Given the description of an element on the screen output the (x, y) to click on. 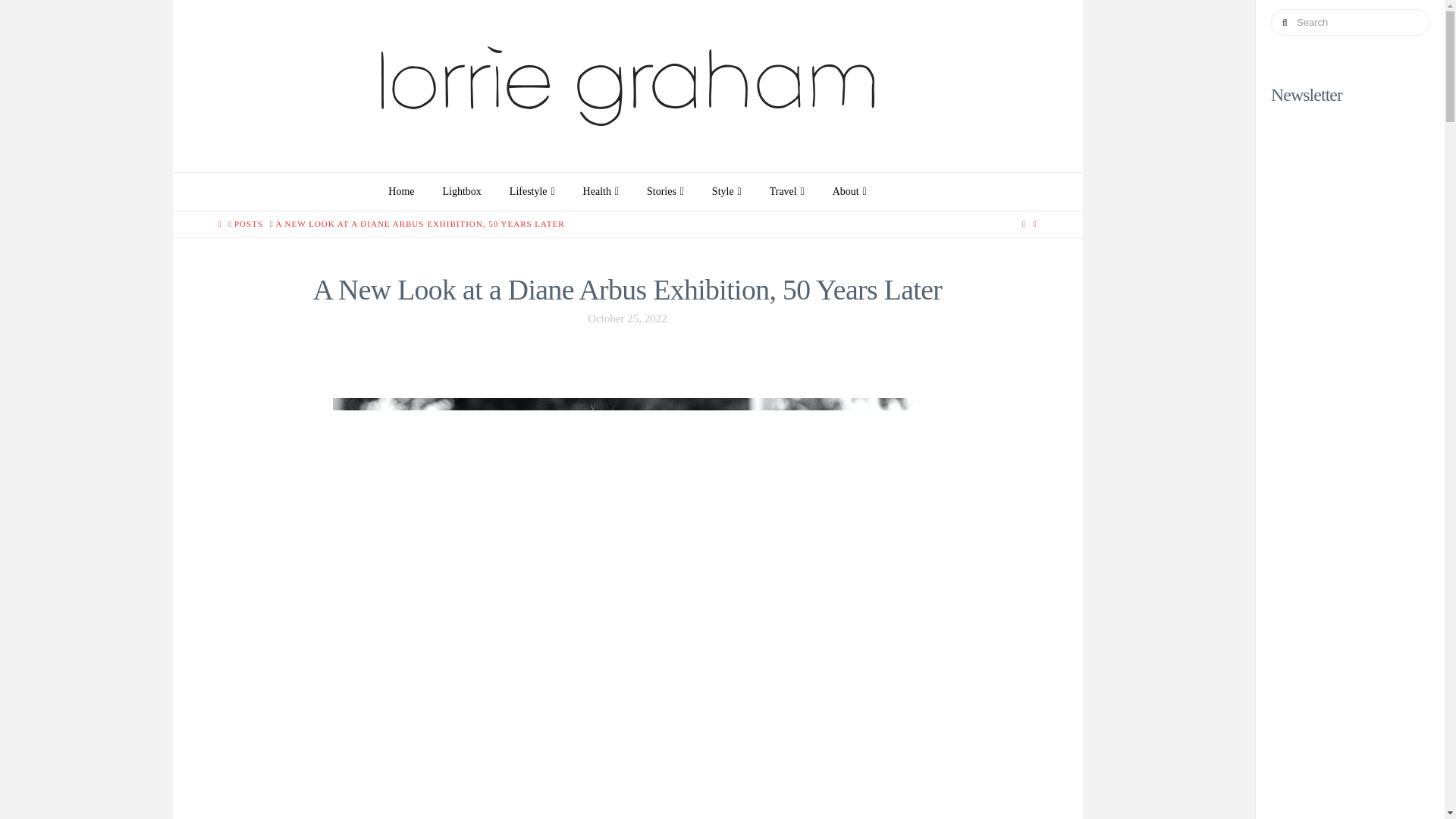
Home (401, 191)
Health (600, 191)
About (849, 191)
Lifestyle (532, 191)
You Are Here (420, 224)
Stories (664, 191)
Style (726, 191)
Travel (786, 191)
Lightbox (461, 191)
